Given the description of an element on the screen output the (x, y) to click on. 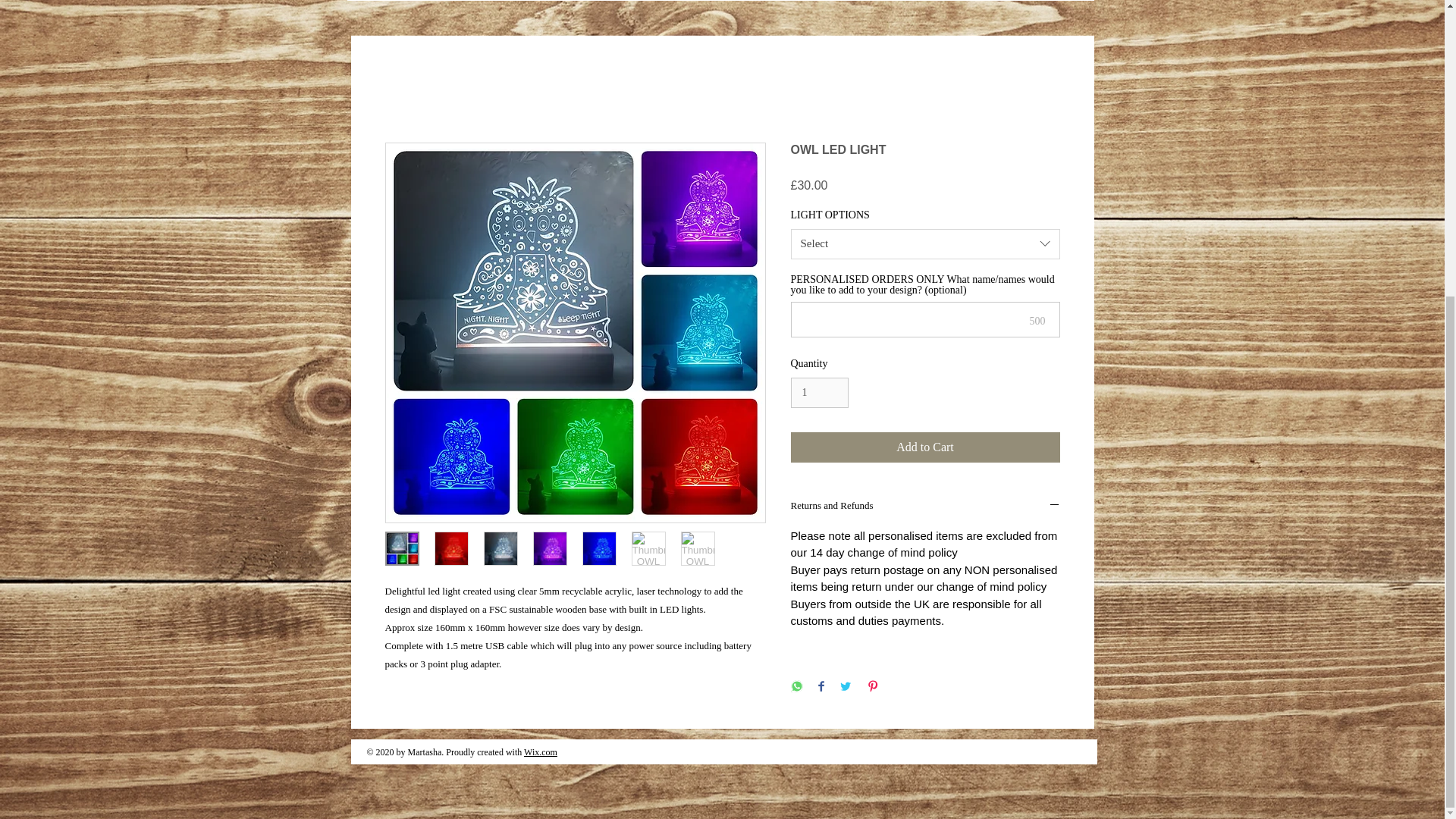
Wix.com (540, 751)
Returns and Refunds (924, 506)
Add to Cart (924, 447)
Select (924, 244)
1 (818, 392)
